Given the description of an element on the screen output the (x, y) to click on. 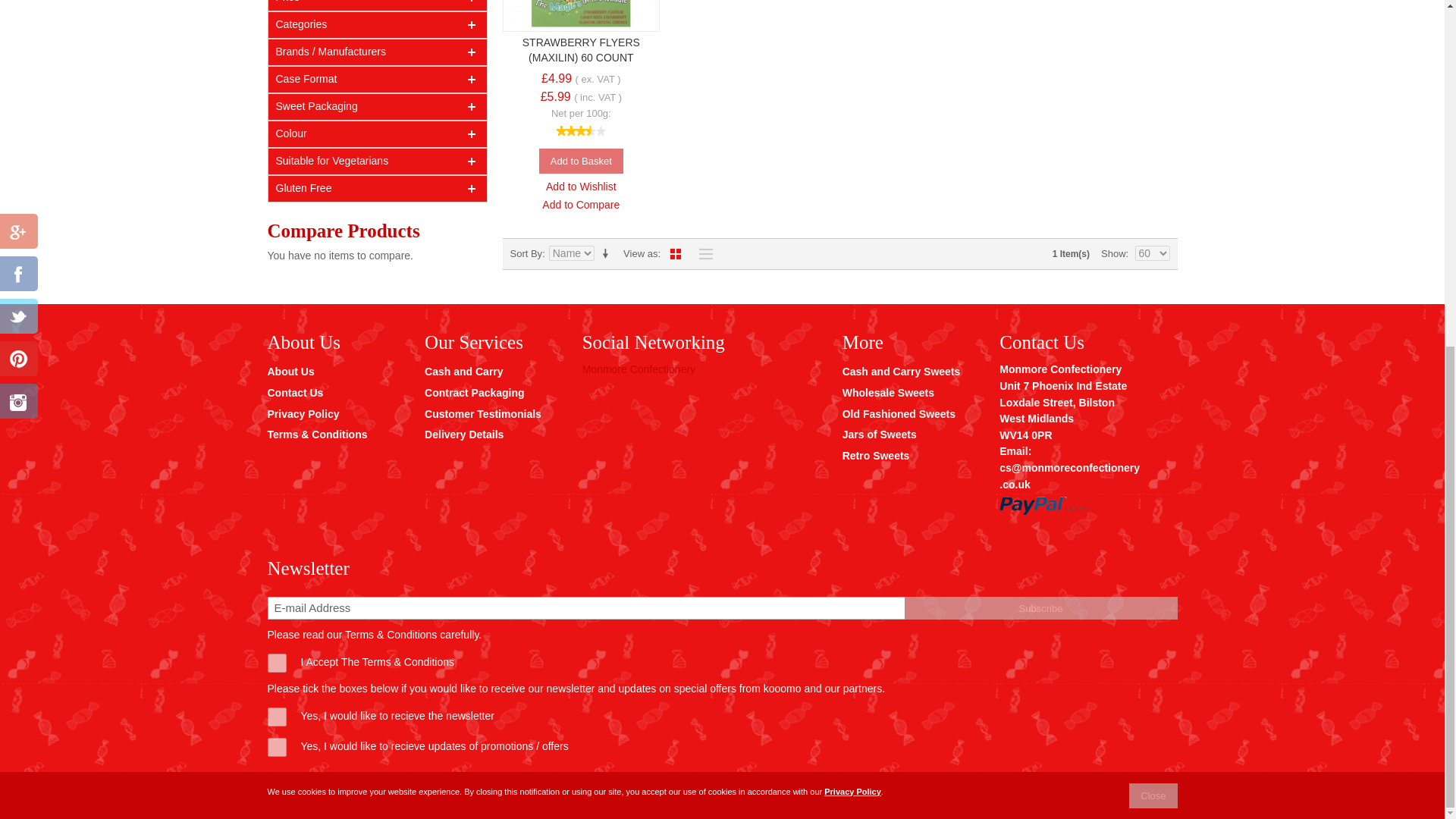
on (275, 662)
E-mail Address (585, 608)
on (275, 716)
on (275, 746)
